Given the description of an element on the screen output the (x, y) to click on. 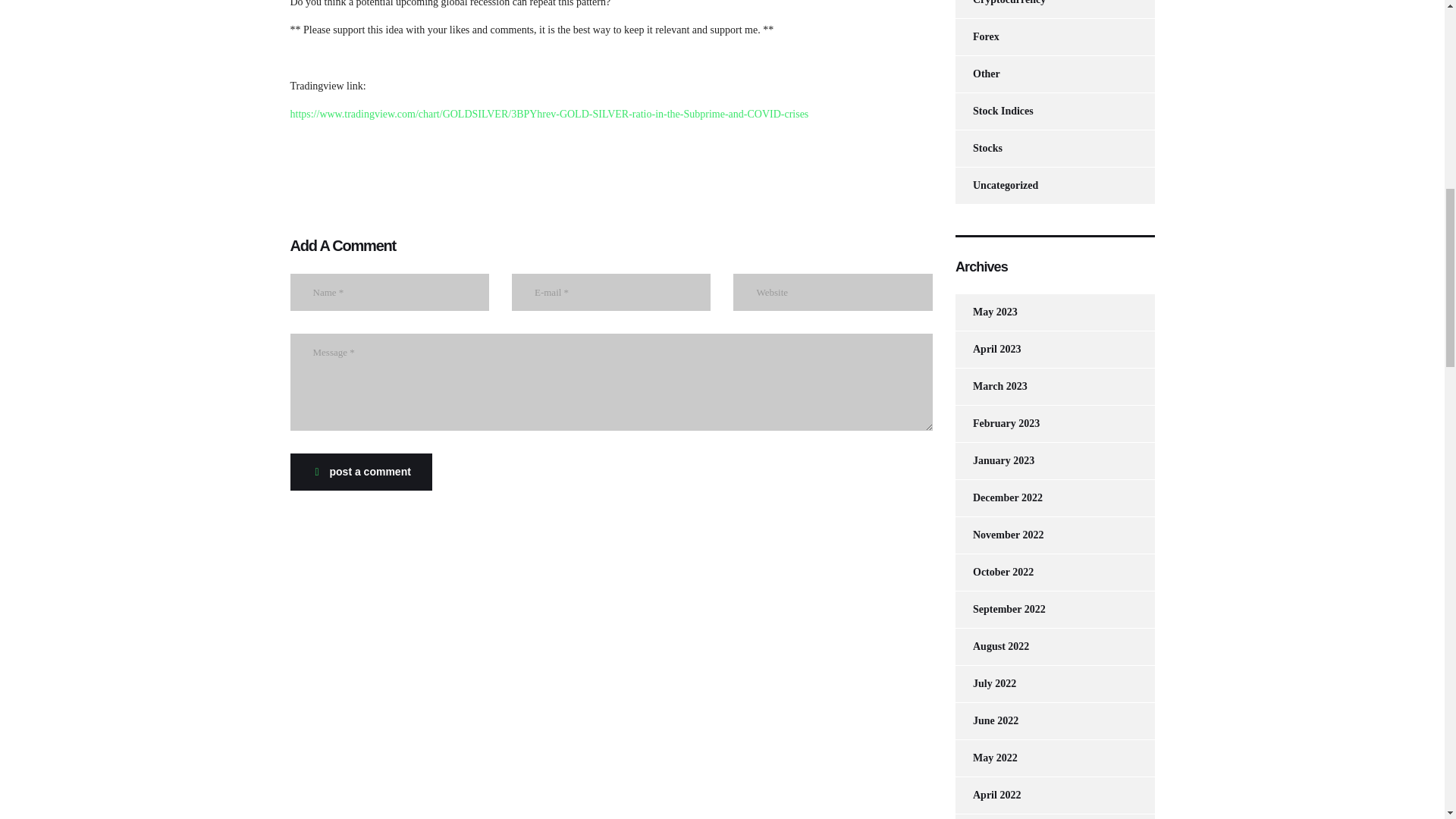
Cryptocurrency (1000, 9)
post a comment (359, 471)
Other (977, 74)
Forex (976, 36)
